Given the description of an element on the screen output the (x, y) to click on. 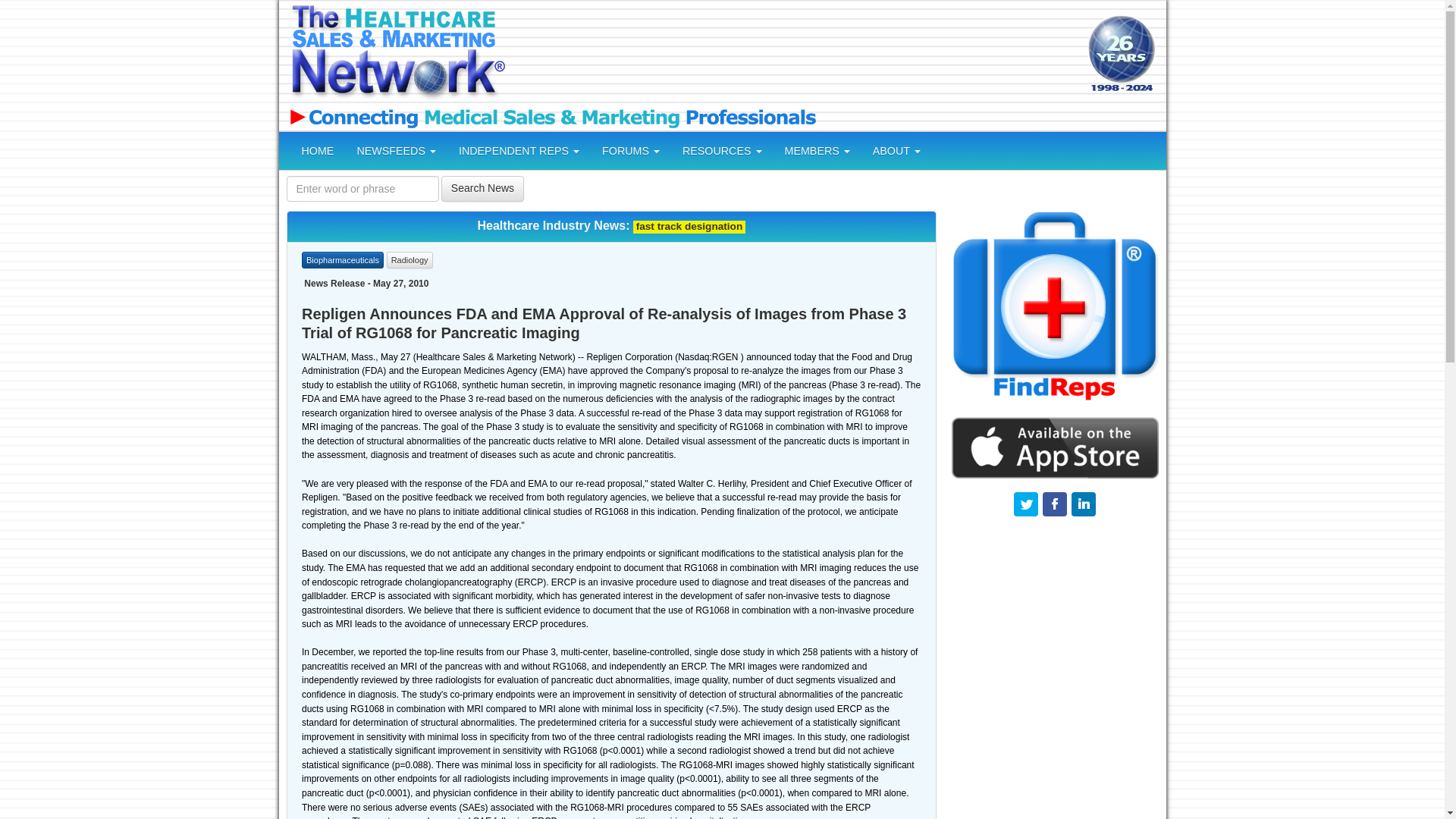
RESOURCES  (722, 150)
NEWSFEEDS  (395, 150)
Search News (482, 188)
HOME (317, 150)
Advertisement (794, 55)
INDEPENDENT REPS  (518, 150)
FORUMS  (631, 150)
